Given the description of an element on the screen output the (x, y) to click on. 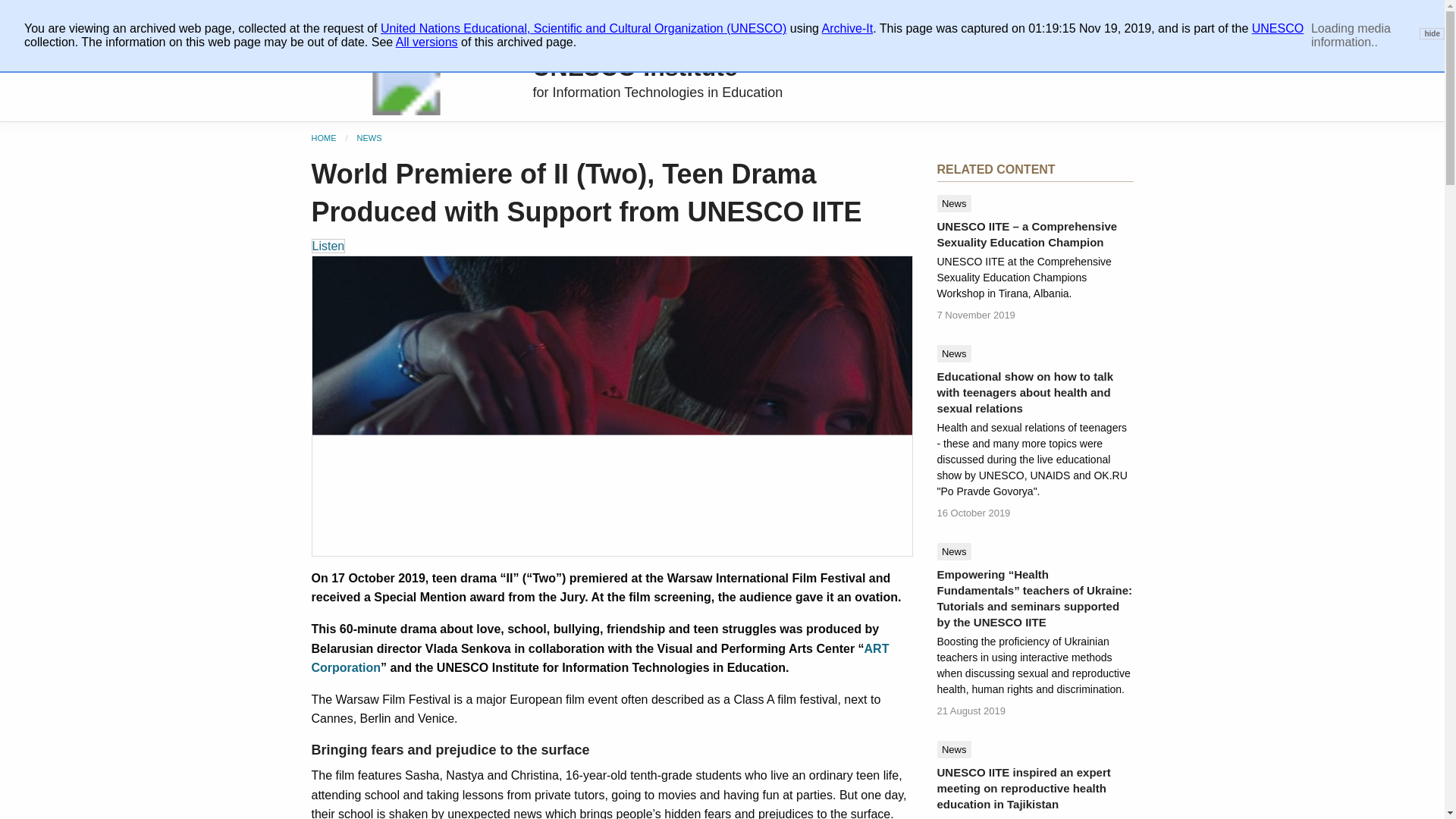
UNESCO (1277, 28)
Who we are (353, 15)
News (368, 137)
Archive-It (847, 28)
Listen to this page using ReadSpeaker webReader (328, 246)
Home (323, 137)
What we do (440, 15)
All versions (427, 42)
